Given the description of an element on the screen output the (x, y) to click on. 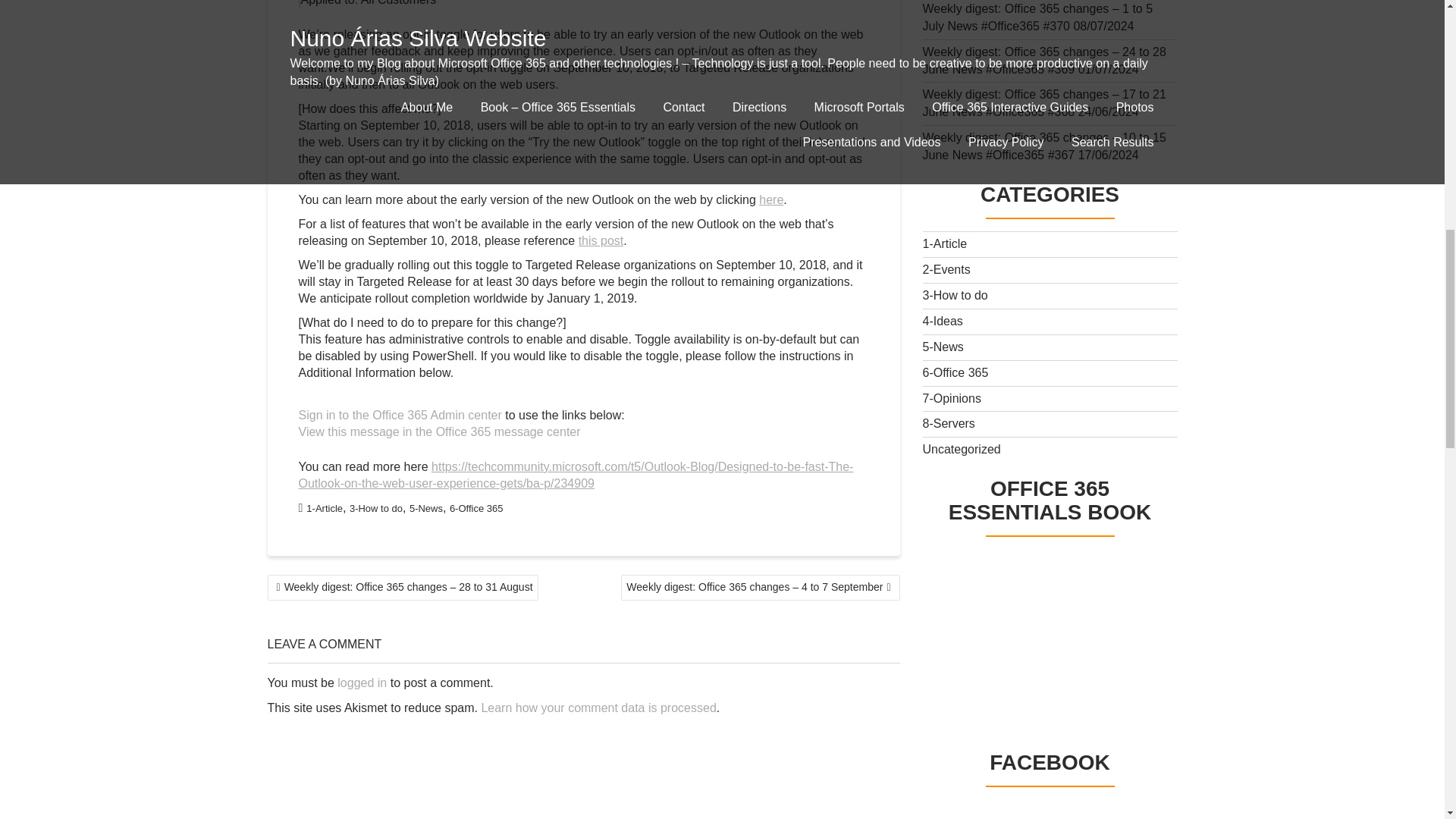
3-How to do (376, 508)
View this message in the Office 365 message center (439, 431)
Sign in to the Office 365 Admin center (400, 414)
logged in (362, 682)
1-Article (323, 508)
6-Office 365 (476, 508)
here (770, 199)
5-News (425, 508)
Learn how your comment data is processed (598, 707)
this post (601, 240)
